Given the description of an element on the screen output the (x, y) to click on. 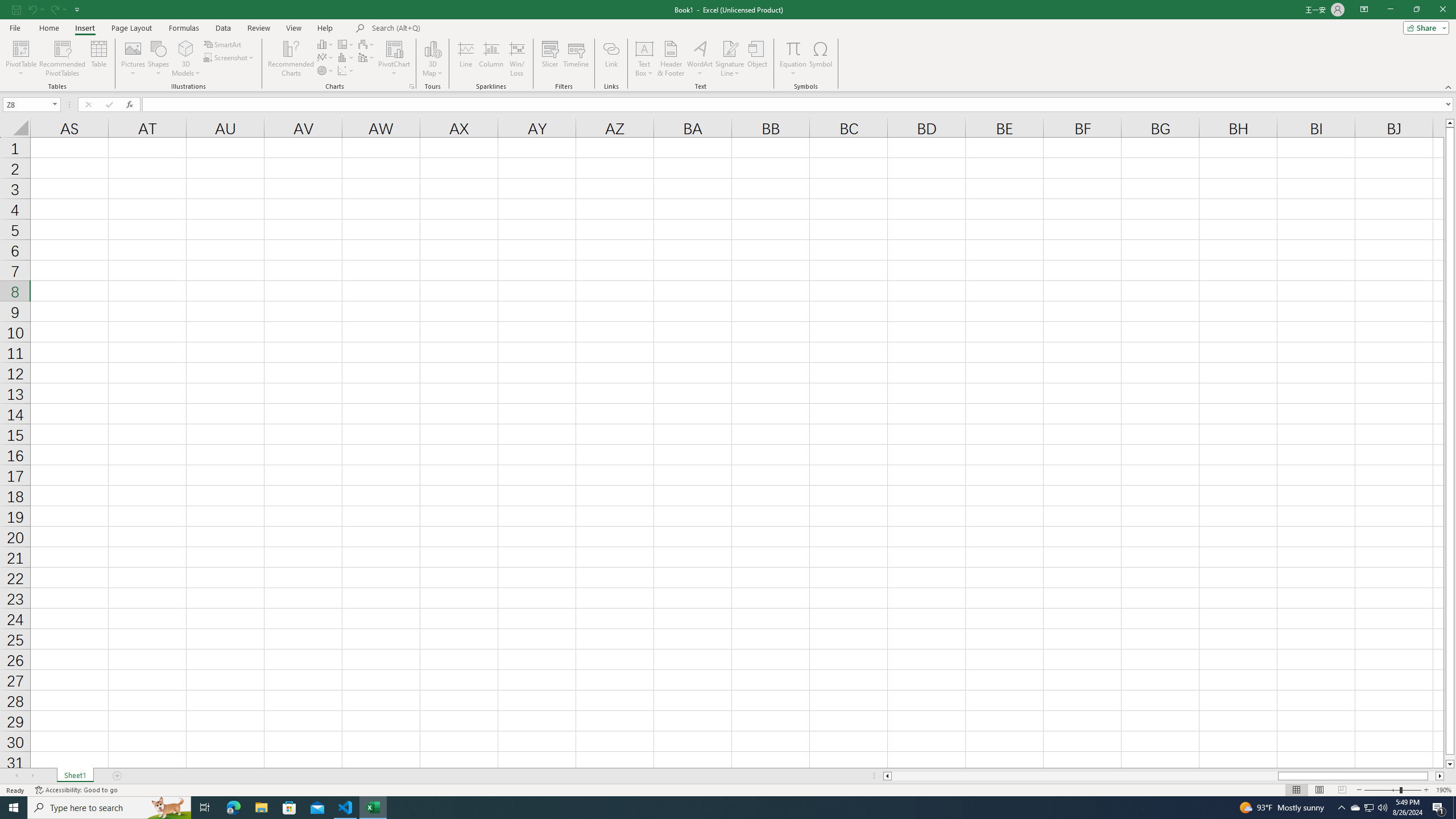
Recommended PivotTables (62, 58)
Table (98, 58)
